Given the description of an element on the screen output the (x, y) to click on. 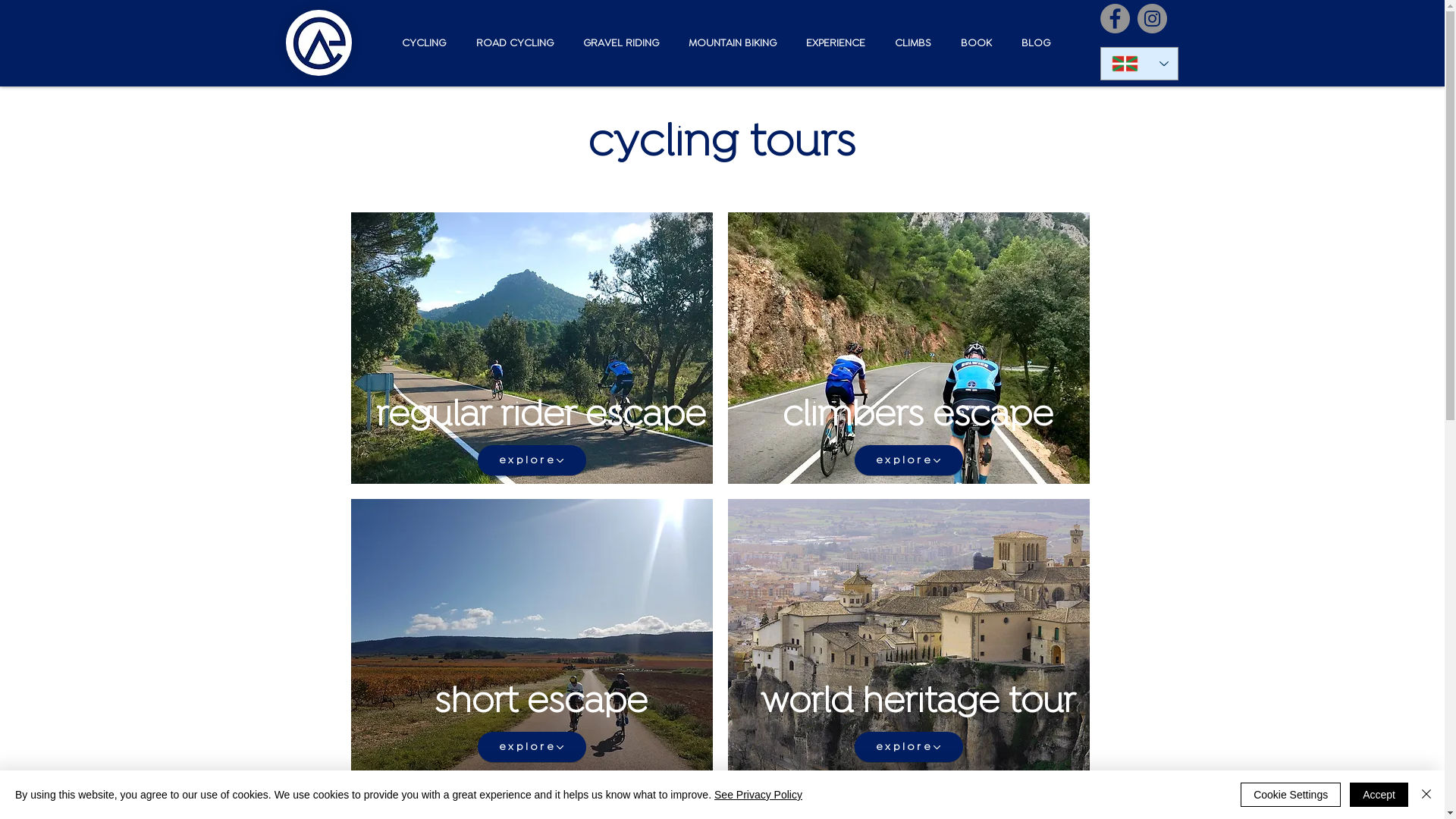
explore Element type: text (531, 746)
Accept Element type: text (1378, 794)
Cookie Settings Element type: text (1290, 794)
CLIMBS Element type: text (909, 43)
CYCLING Element type: text (419, 43)
GRAVEL RIDING Element type: text (616, 43)
BOOK Element type: text (971, 43)
explore Element type: text (907, 746)
EXPERIENCE Element type: text (831, 43)
explore Element type: text (907, 460)
explore Element type: text (531, 460)
BLOG Element type: text (1031, 43)
MOUNTAIN BIKING Element type: text (728, 43)
ROAD CYCLING Element type: text (510, 43)
See Privacy Policy Element type: text (758, 794)
